Given the description of an element on the screen output the (x, y) to click on. 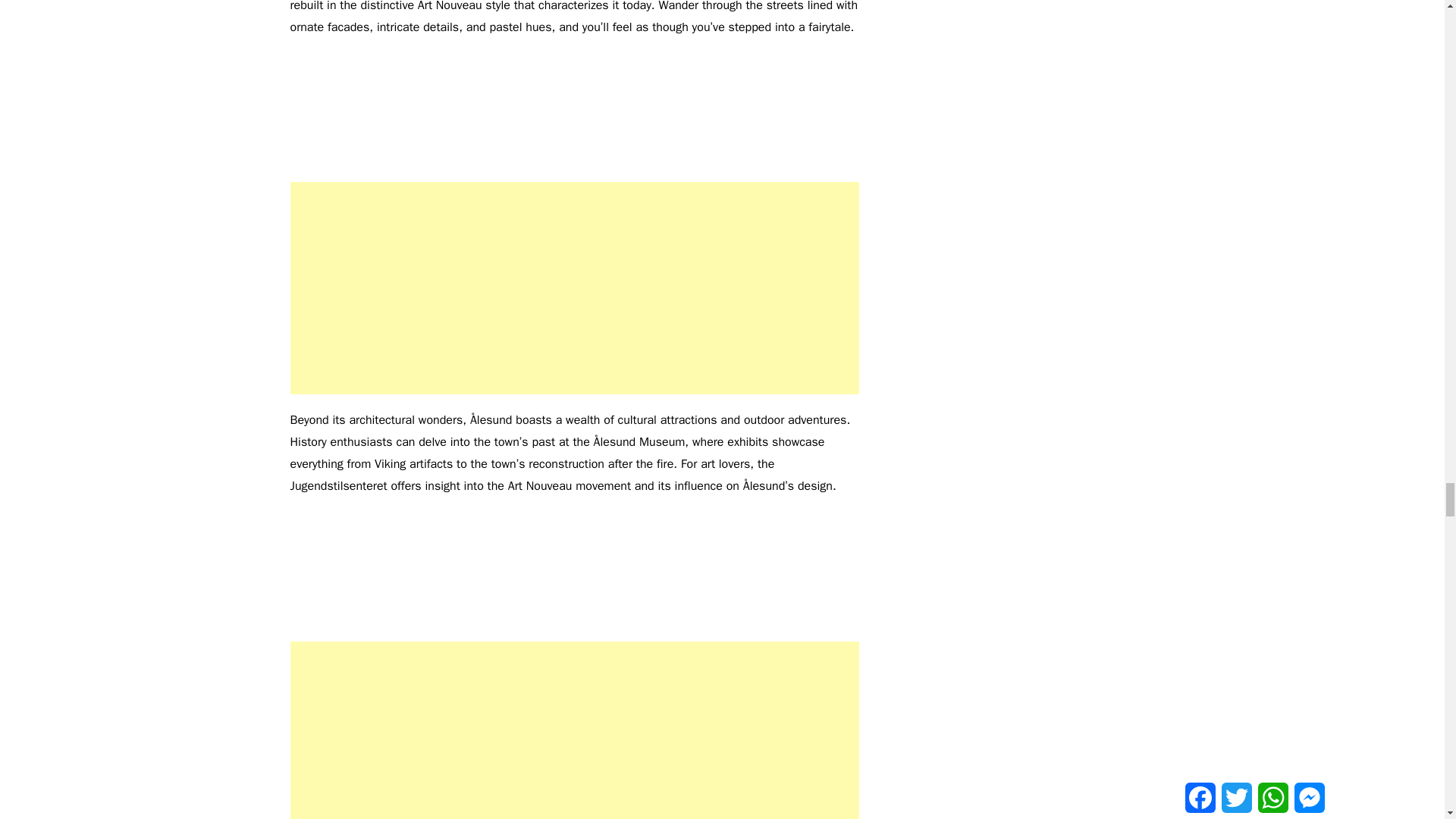
Advertisement (574, 730)
Advertisement (574, 287)
